Given the description of an element on the screen output the (x, y) to click on. 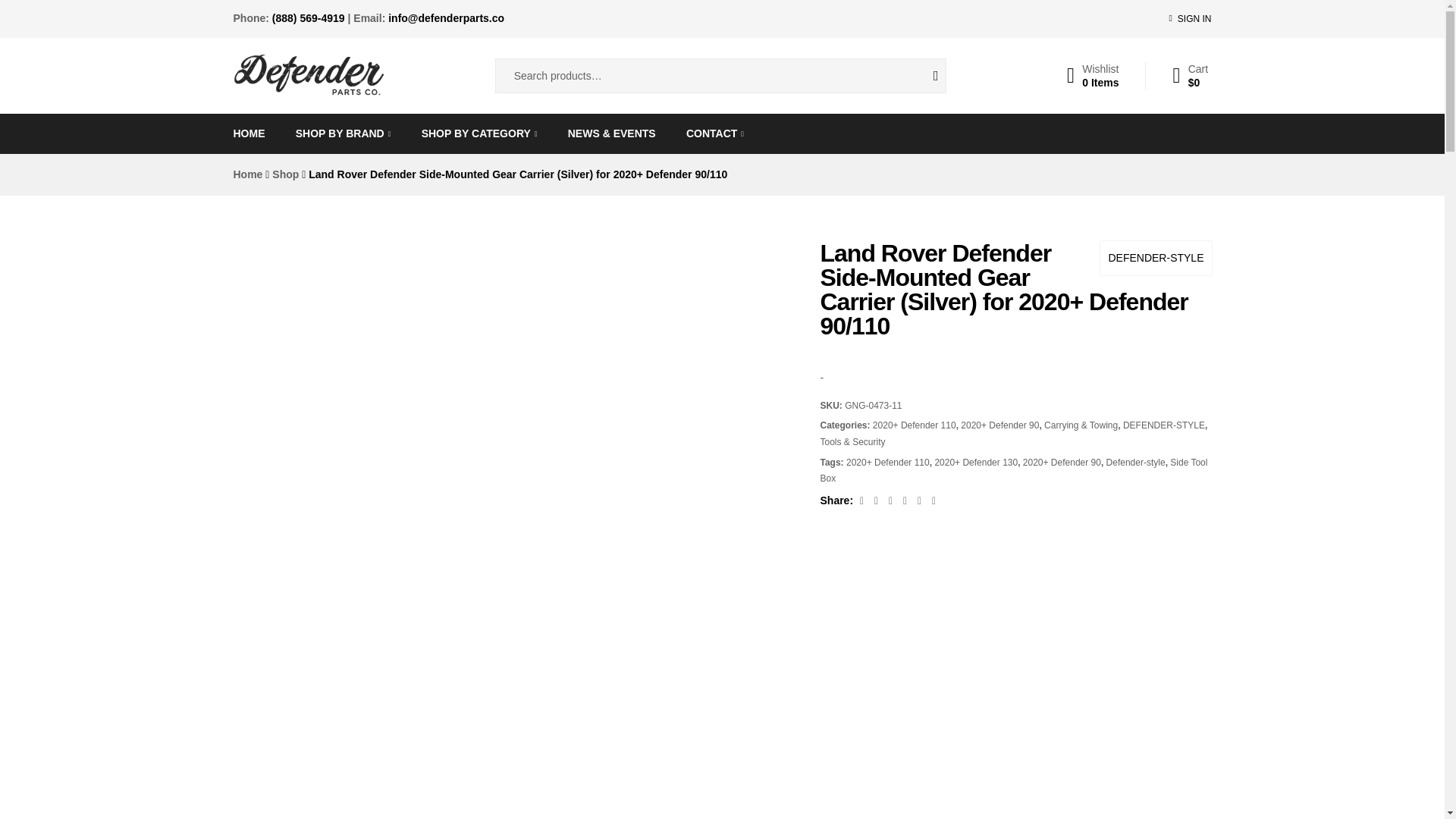
Search (923, 75)
SHOP BY BRAND (1093, 75)
Share on facebook (343, 133)
HOME (863, 500)
Share on Pinterest (248, 133)
Share on Twitter (921, 500)
Share on Google plus (877, 500)
Email to a Friend (906, 500)
SIGN IN (933, 500)
